Given the description of an element on the screen output the (x, y) to click on. 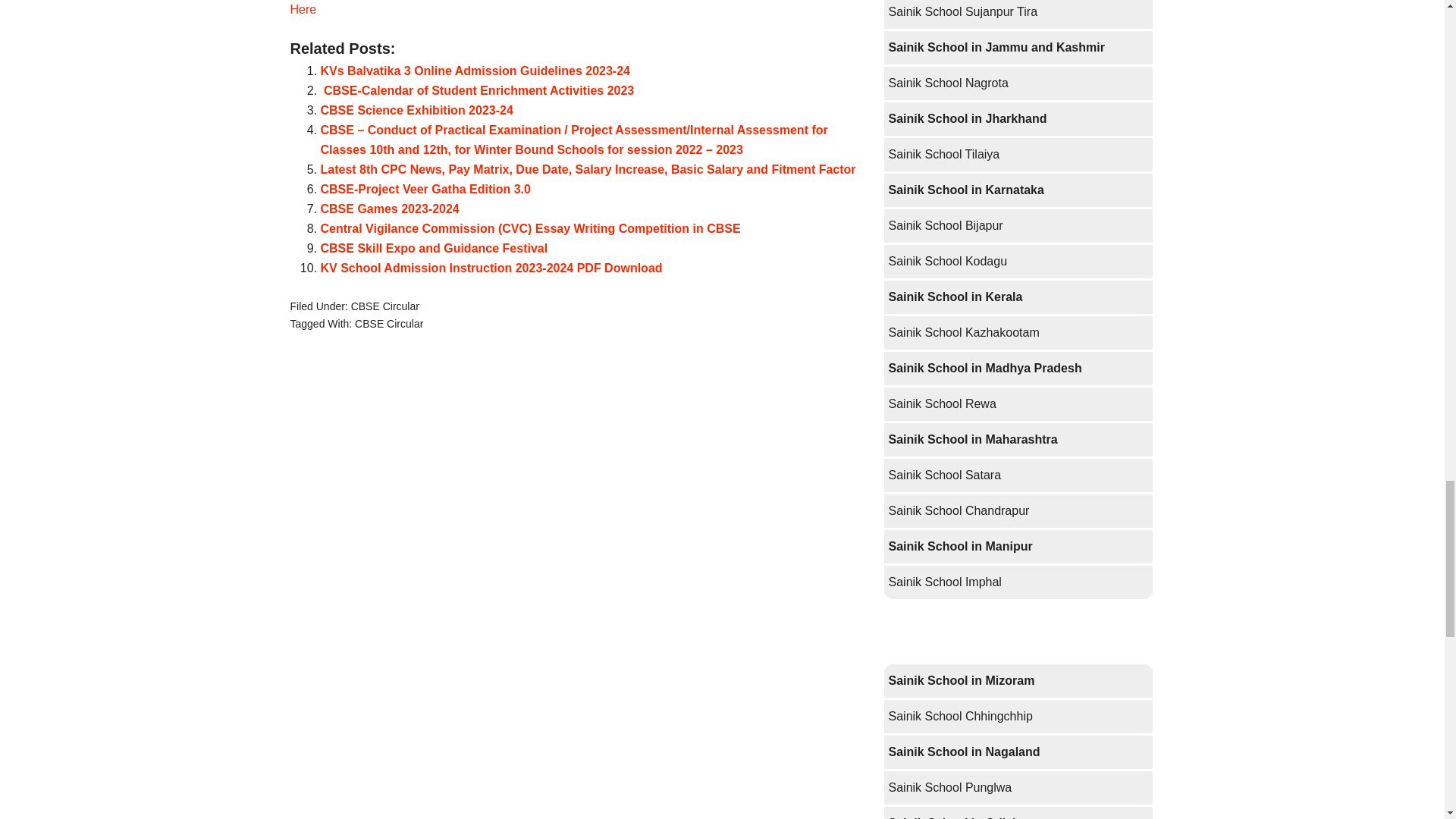
CBSE Games 2023-2024 (389, 208)
KVs Balvatika 3 Online Admission Guidelines 2023-24 (474, 70)
CBSE Science Exhibition 2023-24 (416, 110)
CBSE Skill Expo and Guidance Festival (433, 247)
Click Here (574, 7)
CBSE Circular (384, 306)
CBSE Games 2023-2024 (389, 208)
CBSE-Project Veer Gatha Edition 3.0 (424, 188)
CBSE Circular (389, 323)
CBSE-Project Veer Gatha Edition 3.0 (424, 188)
 CBSE-Calendar of Student Enrichment Activities 2023 (476, 90)
CBSE Science Exhibition 2023-24 (416, 110)
KV School Admission Instruction 2023-2024 PDF Download (491, 267)
